Given the description of an element on the screen output the (x, y) to click on. 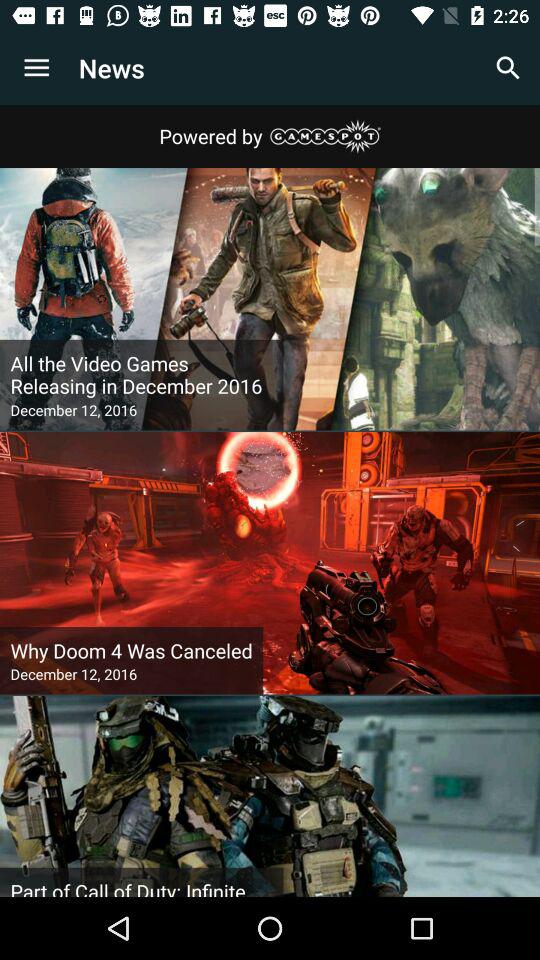
turn on item next to news icon (508, 67)
